Given the description of an element on the screen output the (x, y) to click on. 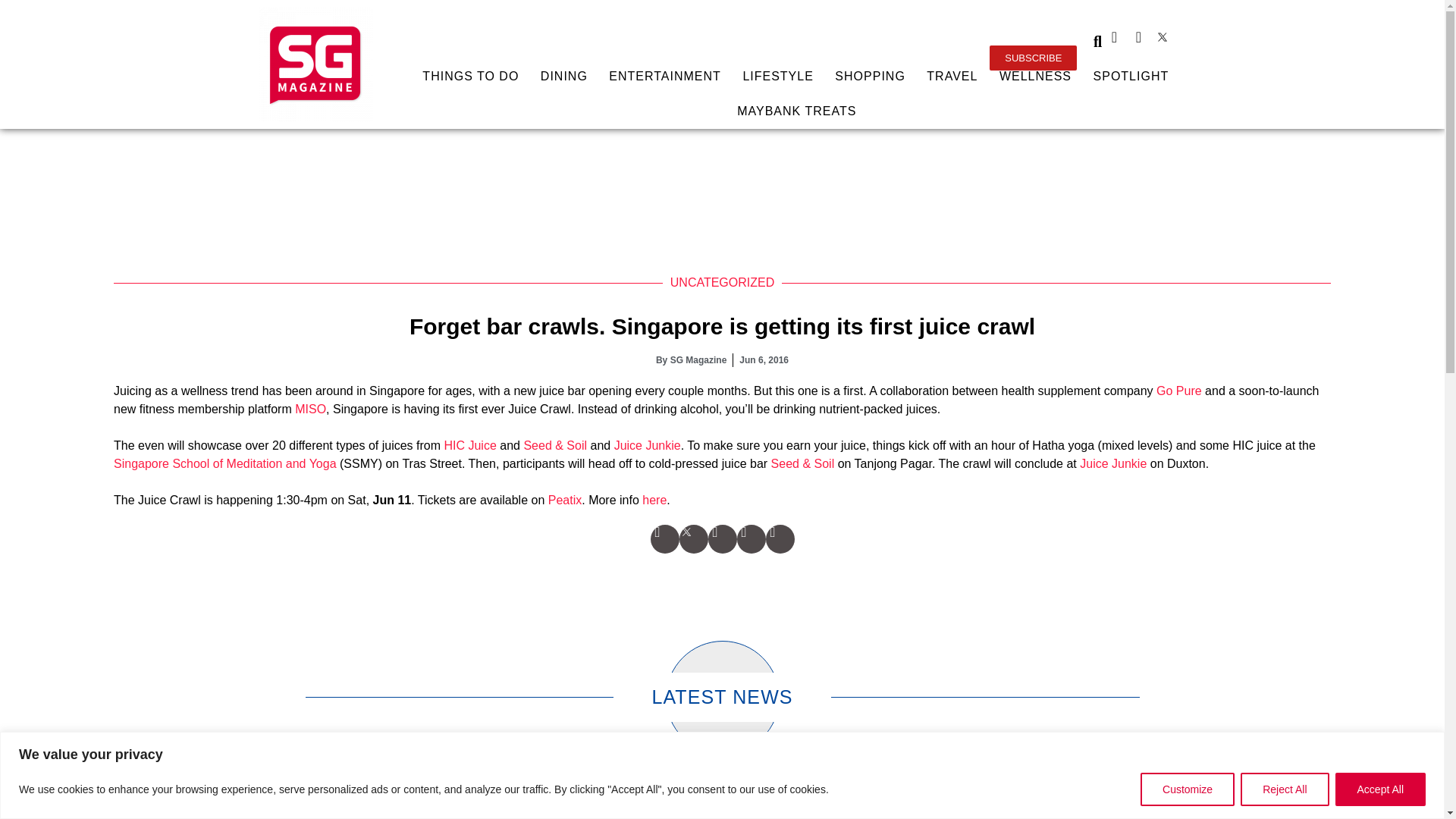
WELLNESS (1035, 76)
ENTERTAINMENT (664, 76)
LIFESTYLE (778, 76)
SHOPPING (870, 76)
THINGS TO DO (470, 76)
Customize (1187, 788)
SG MAG LOGO (315, 64)
MAYBANK TREATS (796, 111)
SUBSCRIBE (1033, 57)
DINING (563, 76)
Reject All (1283, 788)
TRAVEL (952, 76)
Accept All (1380, 788)
SPOTLIGHT (1130, 76)
